Given the description of an element on the screen output the (x, y) to click on. 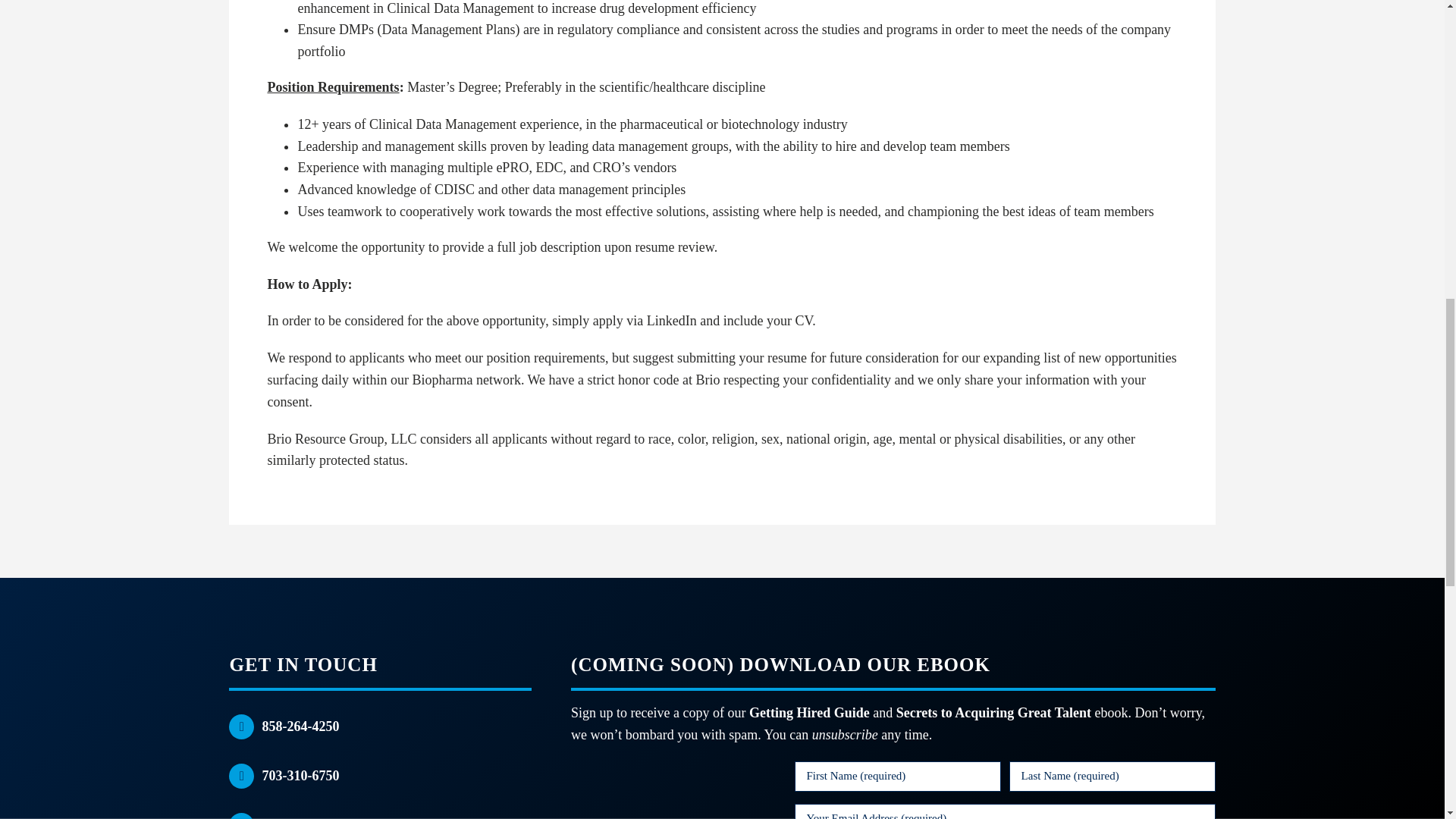
703-310-6750 (300, 775)
Email (240, 816)
Ebooks-for-download (669, 790)
858-264-4250 (300, 726)
Phone (240, 775)
Phone (240, 726)
